Given the description of an element on the screen output the (x, y) to click on. 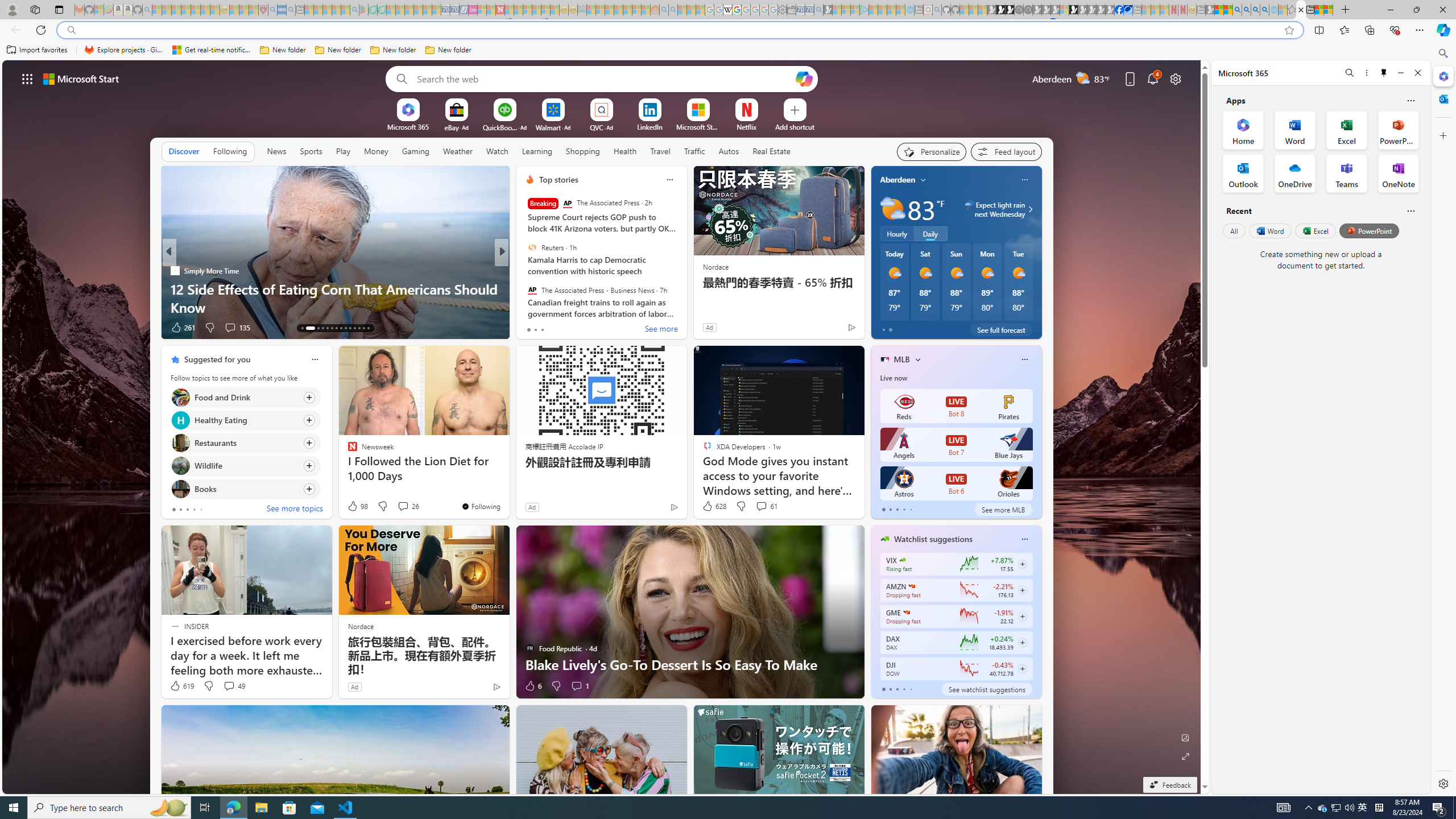
The Associated Press (567, 203)
View comments 49 Comment (233, 685)
Excel (1315, 230)
View comments 26 Comment (403, 505)
Teams Office App (1346, 172)
See more MLB (1003, 509)
Why Some People Wait To Die Until They're Alone (335, 307)
